Given the description of an element on the screen output the (x, y) to click on. 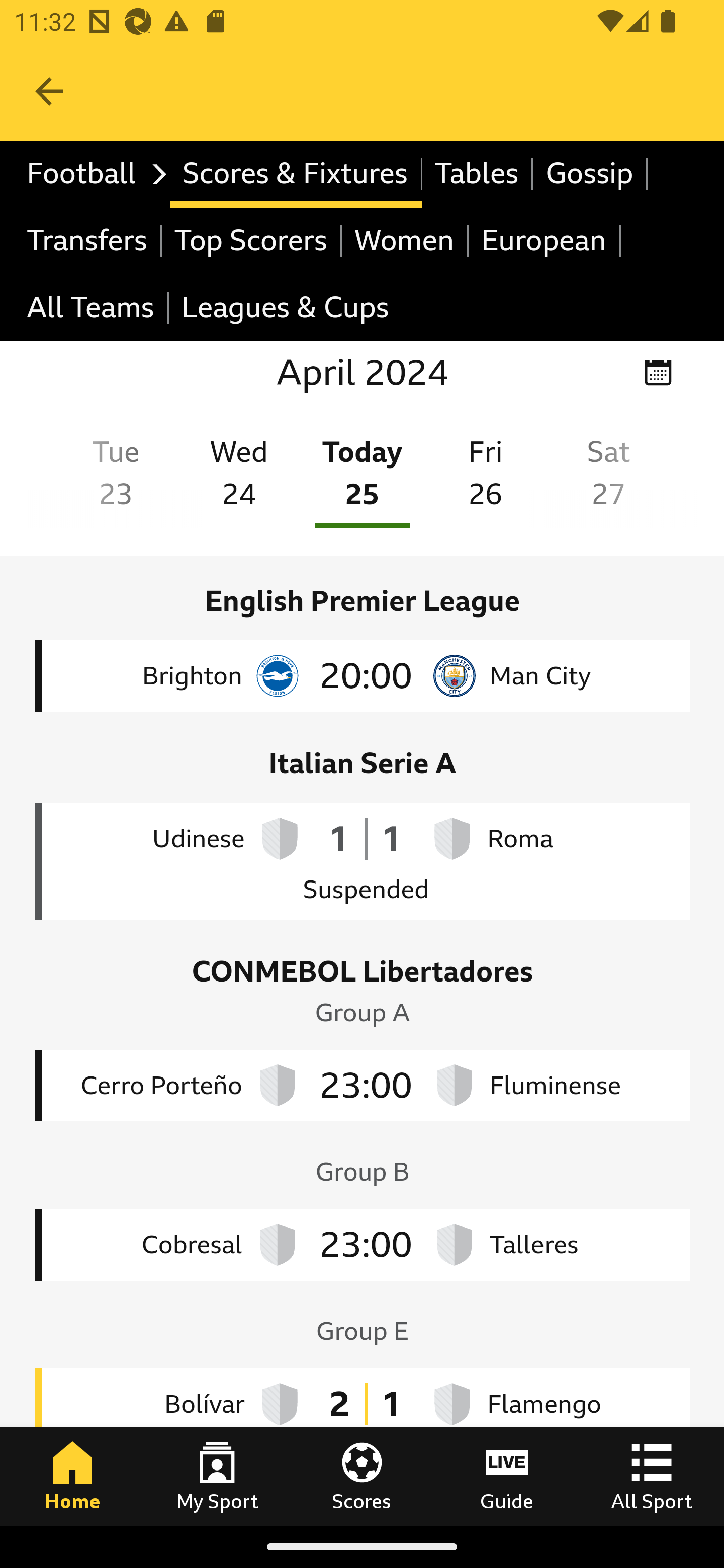
Navigate up (49, 91)
Football (91, 173)
Scores & Fixtures (295, 173)
Tables (477, 173)
Gossip (590, 173)
Transfers (88, 240)
Top Scorers (251, 240)
Women (405, 240)
European (544, 240)
All Teams (91, 308)
Leagues & Cups (284, 308)
My Sport (216, 1475)
Scores (361, 1475)
Guide (506, 1475)
All Sport (651, 1475)
